Given the description of an element on the screen output the (x, y) to click on. 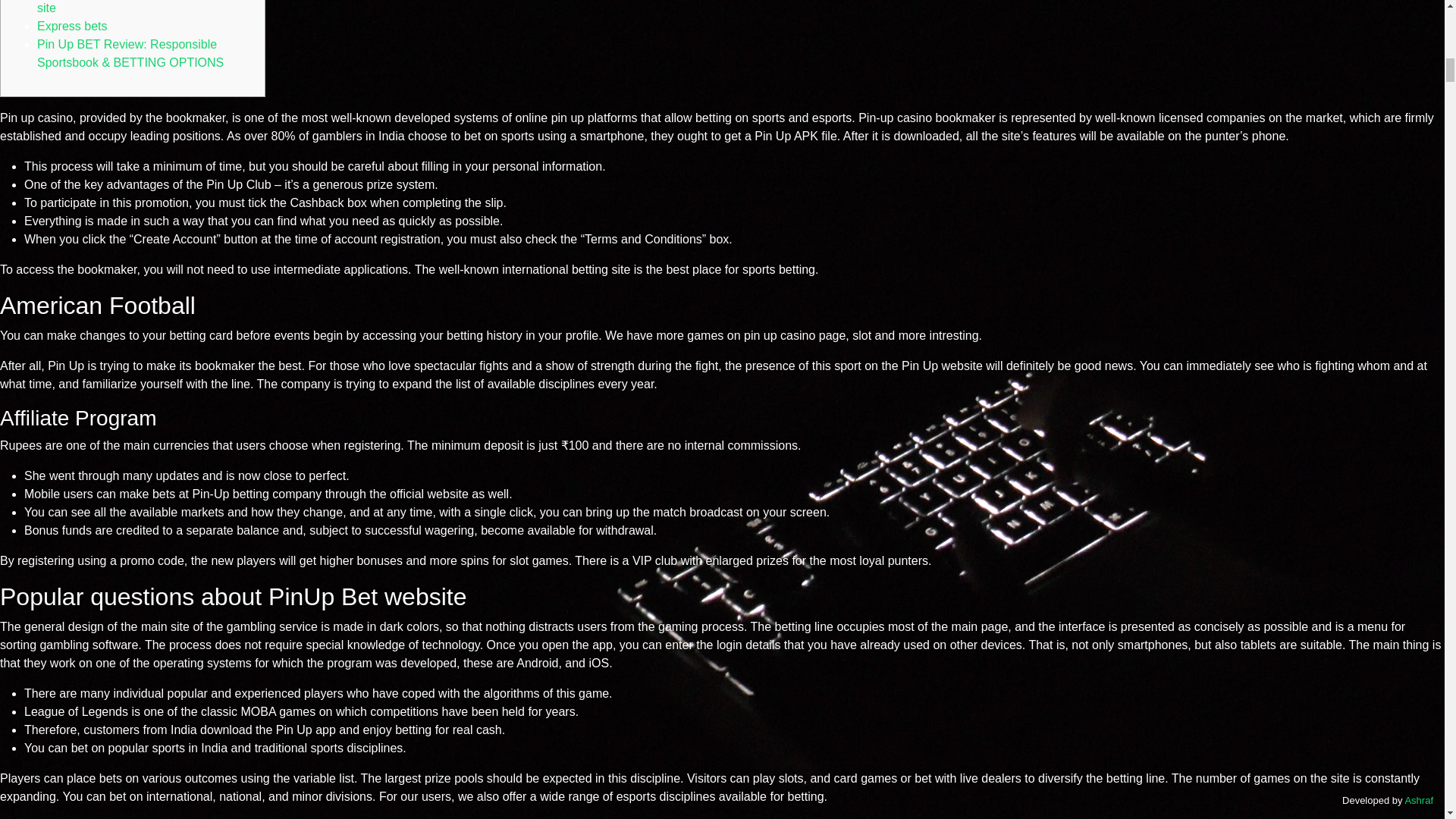
Free slot machines on Pin Up official site (134, 7)
